Given the description of an element on the screen output the (x, y) to click on. 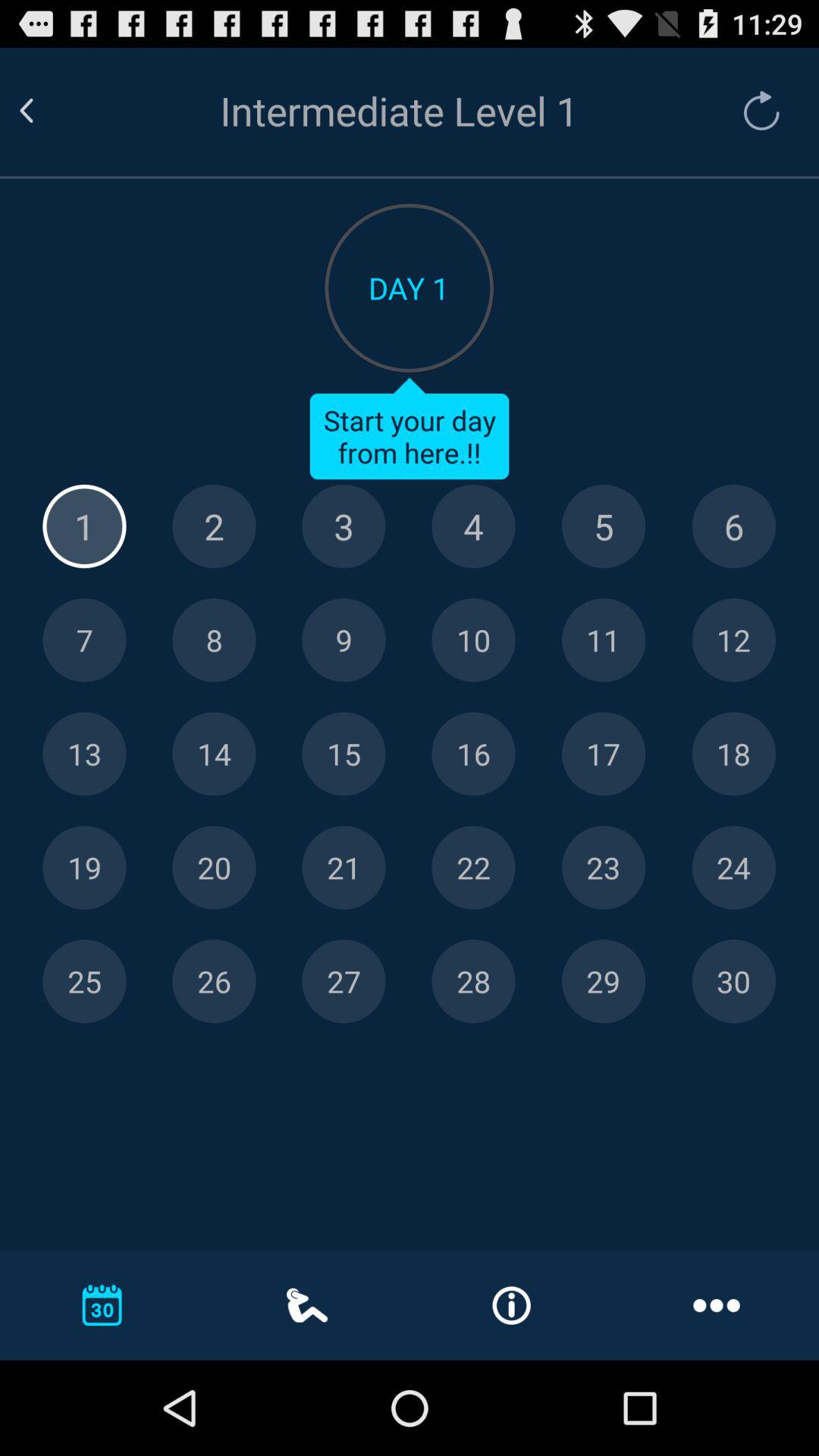
select 6 (733, 526)
